Given the description of an element on the screen output the (x, y) to click on. 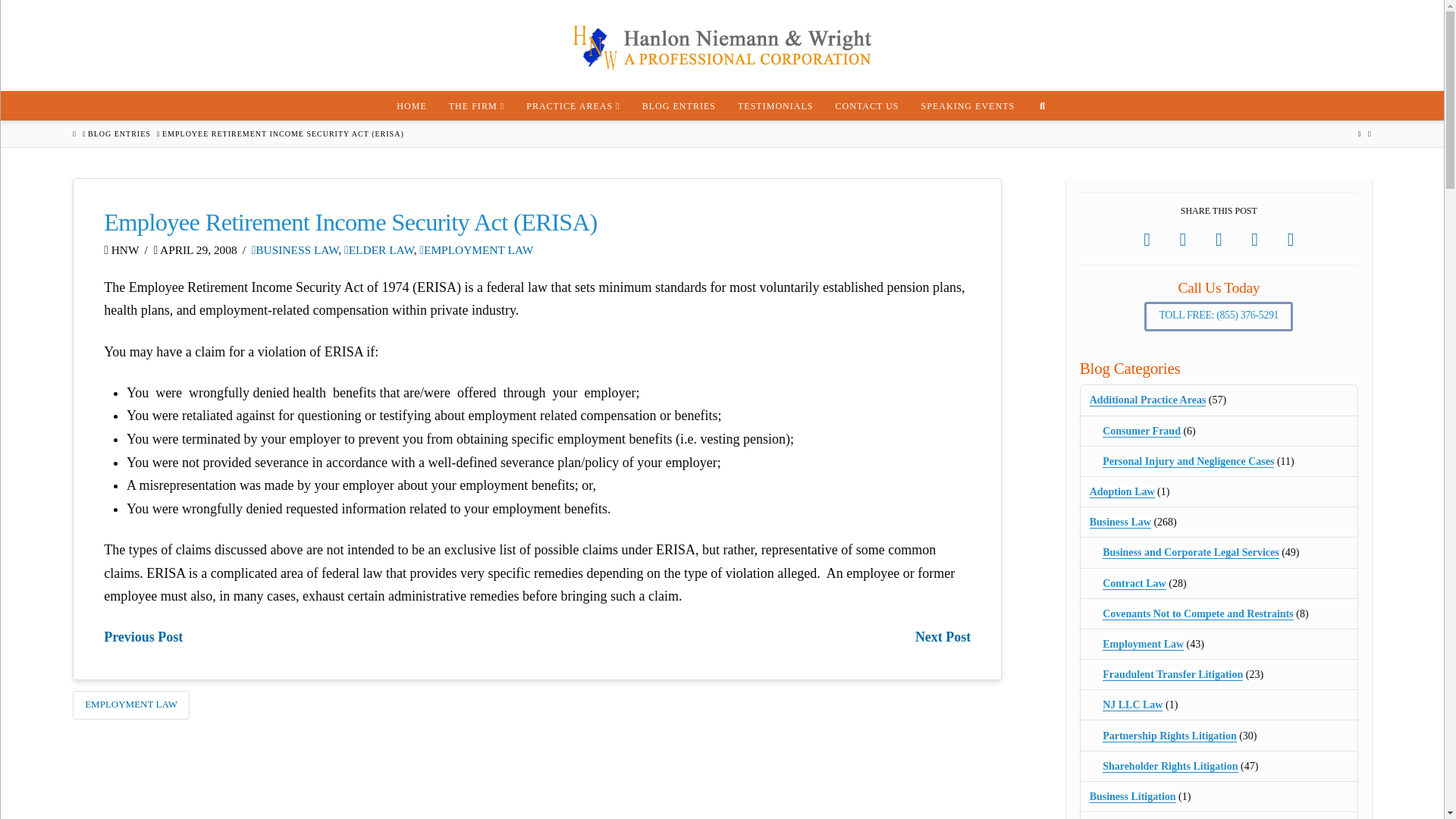
Share on Facebook (1146, 239)
BLOG ENTRIES (678, 104)
PRACTICE AREAS (572, 104)
Share via Email (1290, 239)
SPEAKING EVENTS (968, 104)
Share on LinkedIn (1219, 239)
You Are Here (282, 133)
TESTIMONIALS (775, 104)
CONTACT US (867, 104)
Share on Pinterest (1254, 239)
Share on Twitter (1182, 239)
HOME (410, 104)
THE FIRM (476, 104)
